Given the description of an element on the screen output the (x, y) to click on. 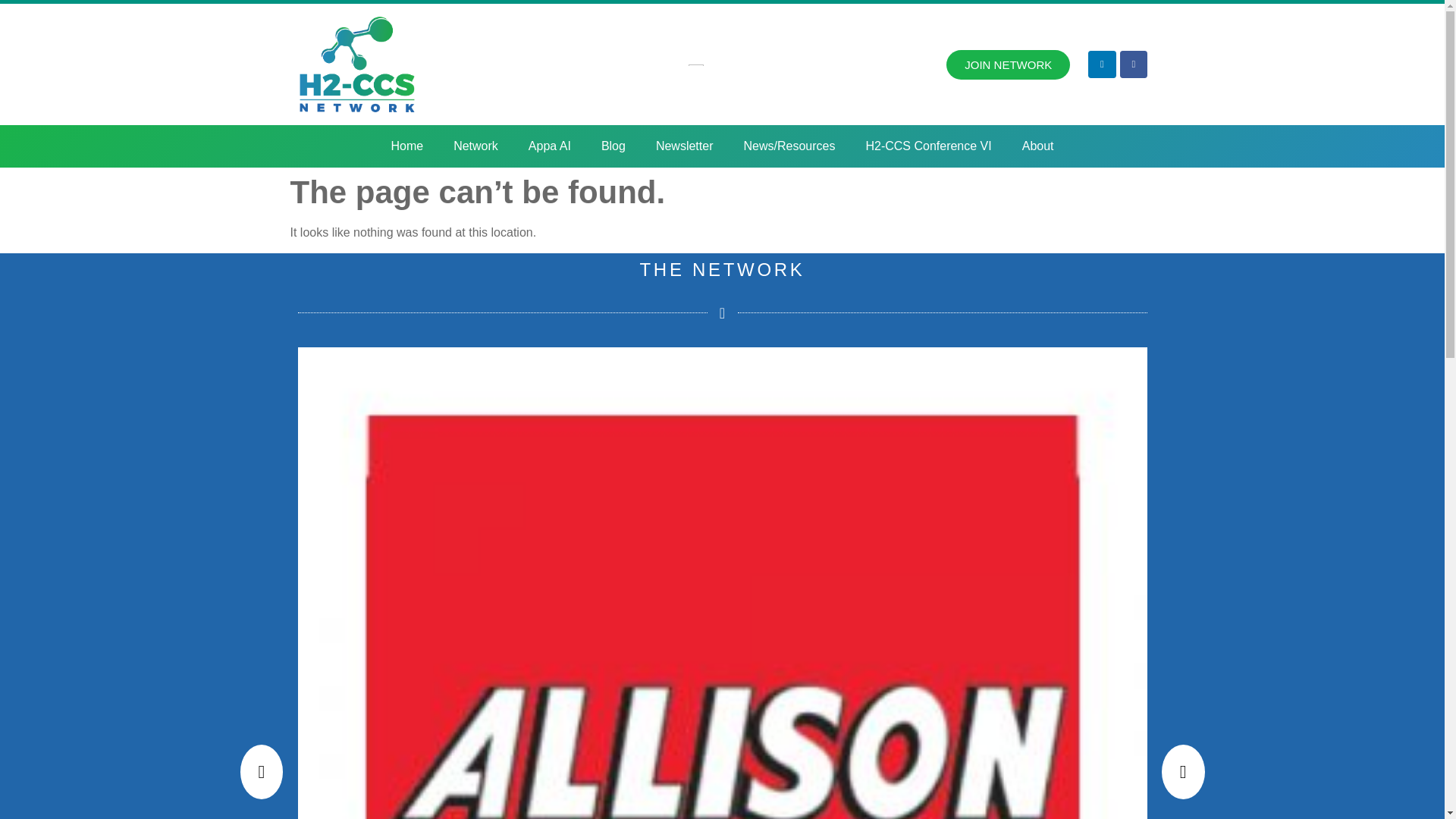
Blog (613, 146)
Home (406, 146)
H2-CCS Conference VI (928, 146)
JOIN NETWORK (1008, 64)
Network (475, 146)
Newsletter (684, 146)
About (1037, 146)
Appa AI (549, 146)
